Given the description of an element on the screen output the (x, y) to click on. 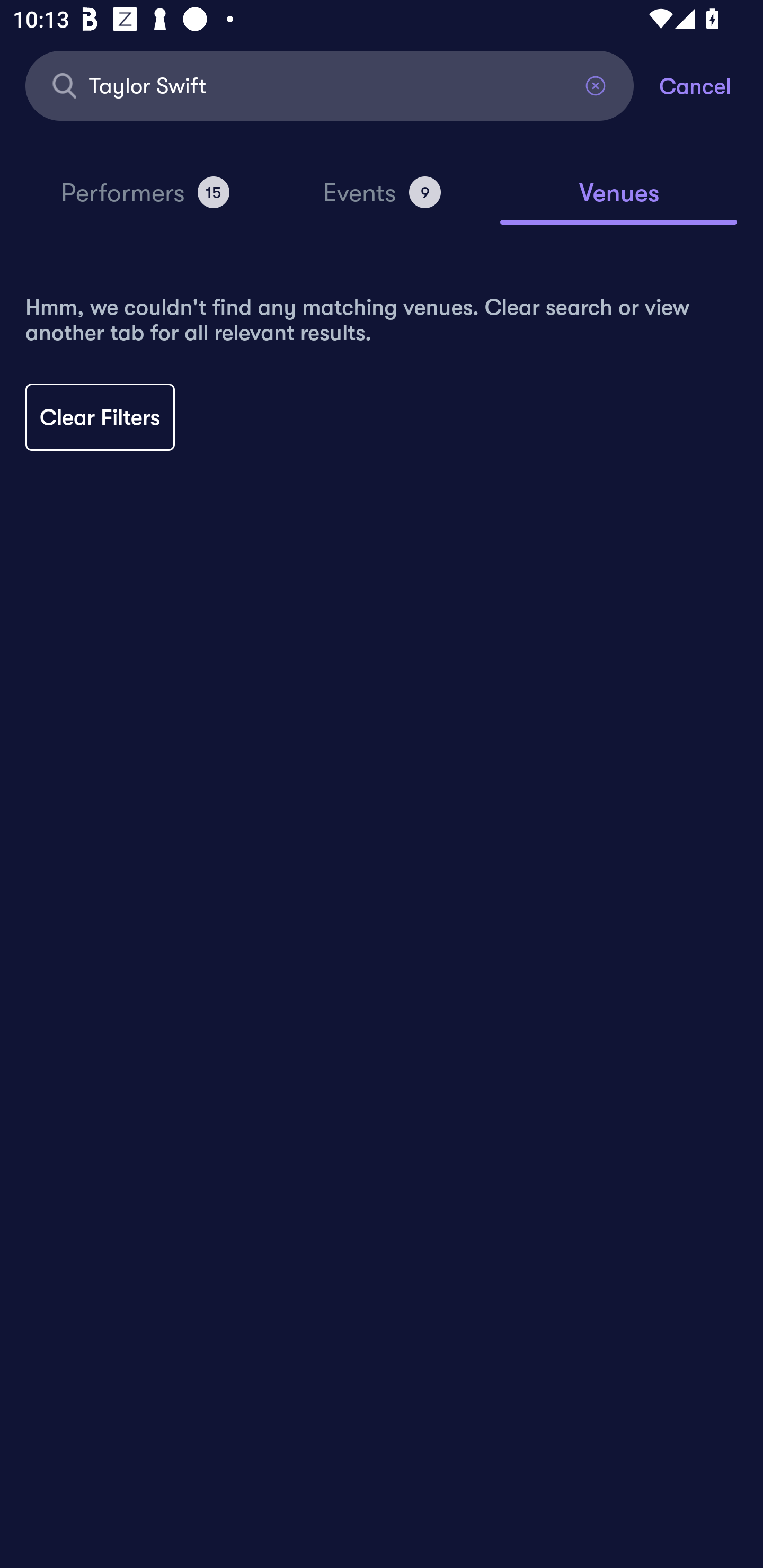
Taylor Swift Find (329, 85)
Taylor Swift Find (329, 85)
Cancel (711, 85)
Performers 15 (144, 200)
Events 9 (381, 200)
Venues (618, 201)
Clear Filters (99, 417)
